Given the description of an element on the screen output the (x, y) to click on. 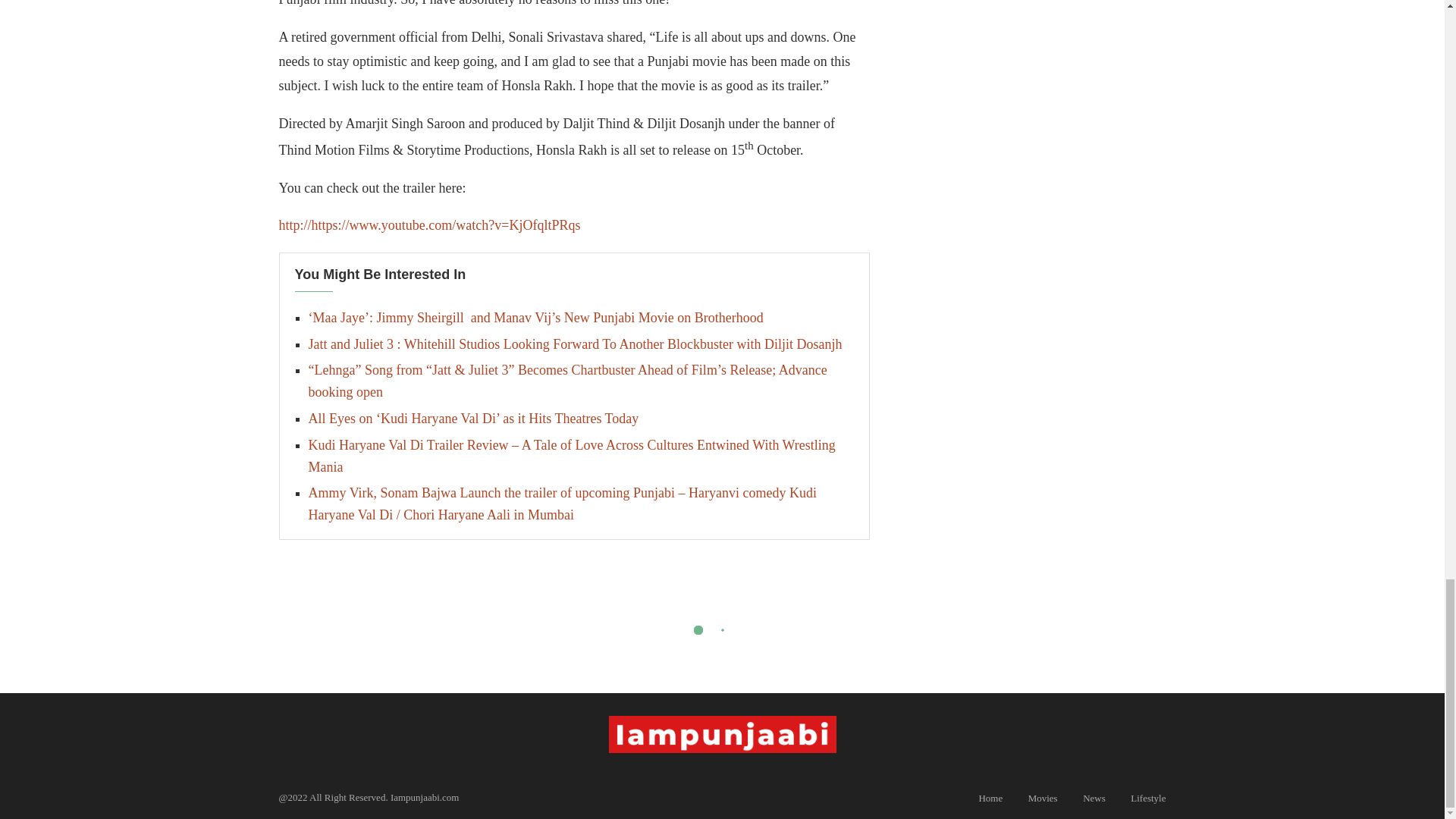
Movies (1042, 798)
Lifestyle (1148, 798)
Home (990, 798)
News (1094, 798)
